Given the description of an element on the screen output the (x, y) to click on. 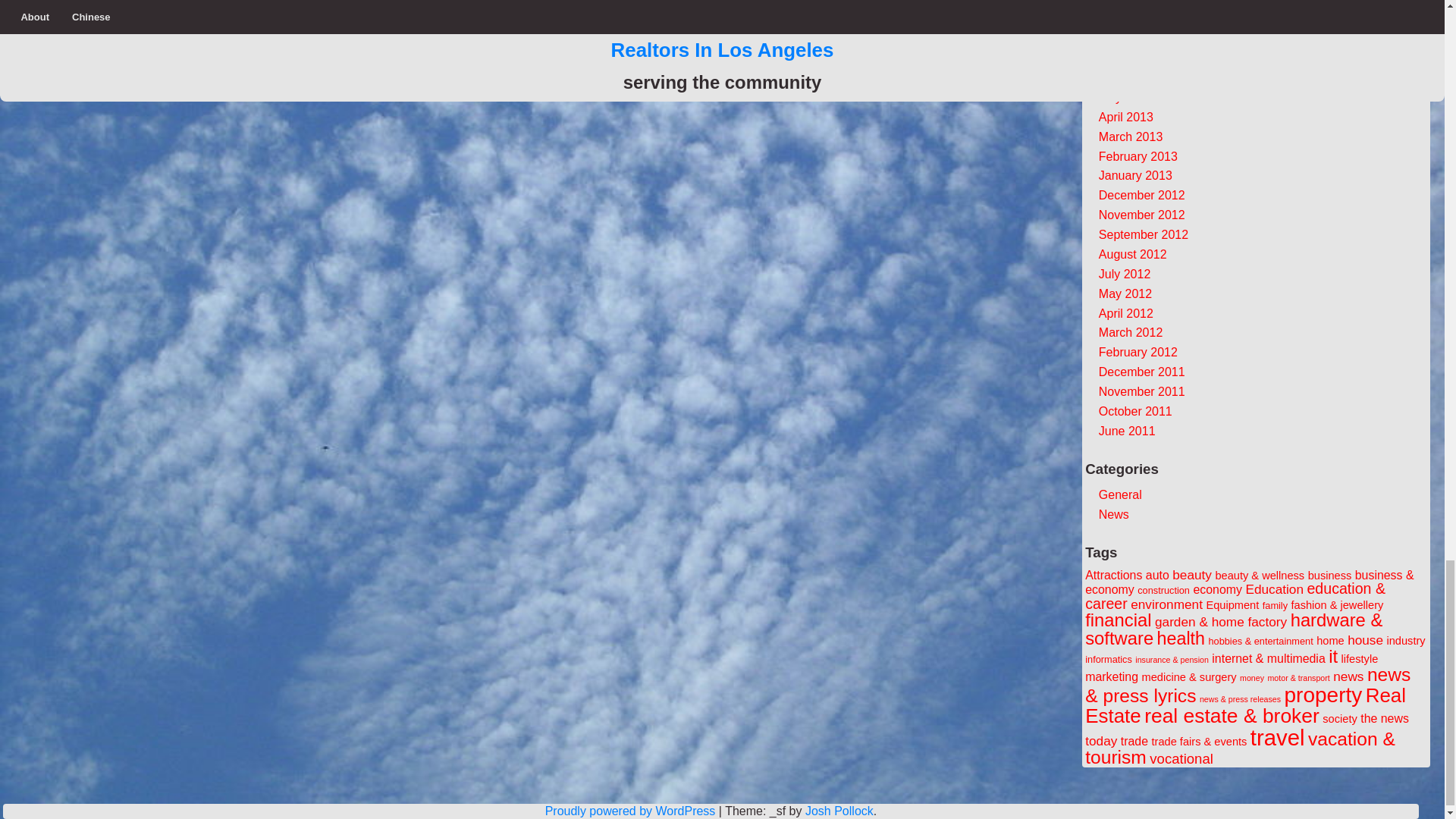
A Semantic Personal Publishing Platform (630, 810)
